Given the description of an element on the screen output the (x, y) to click on. 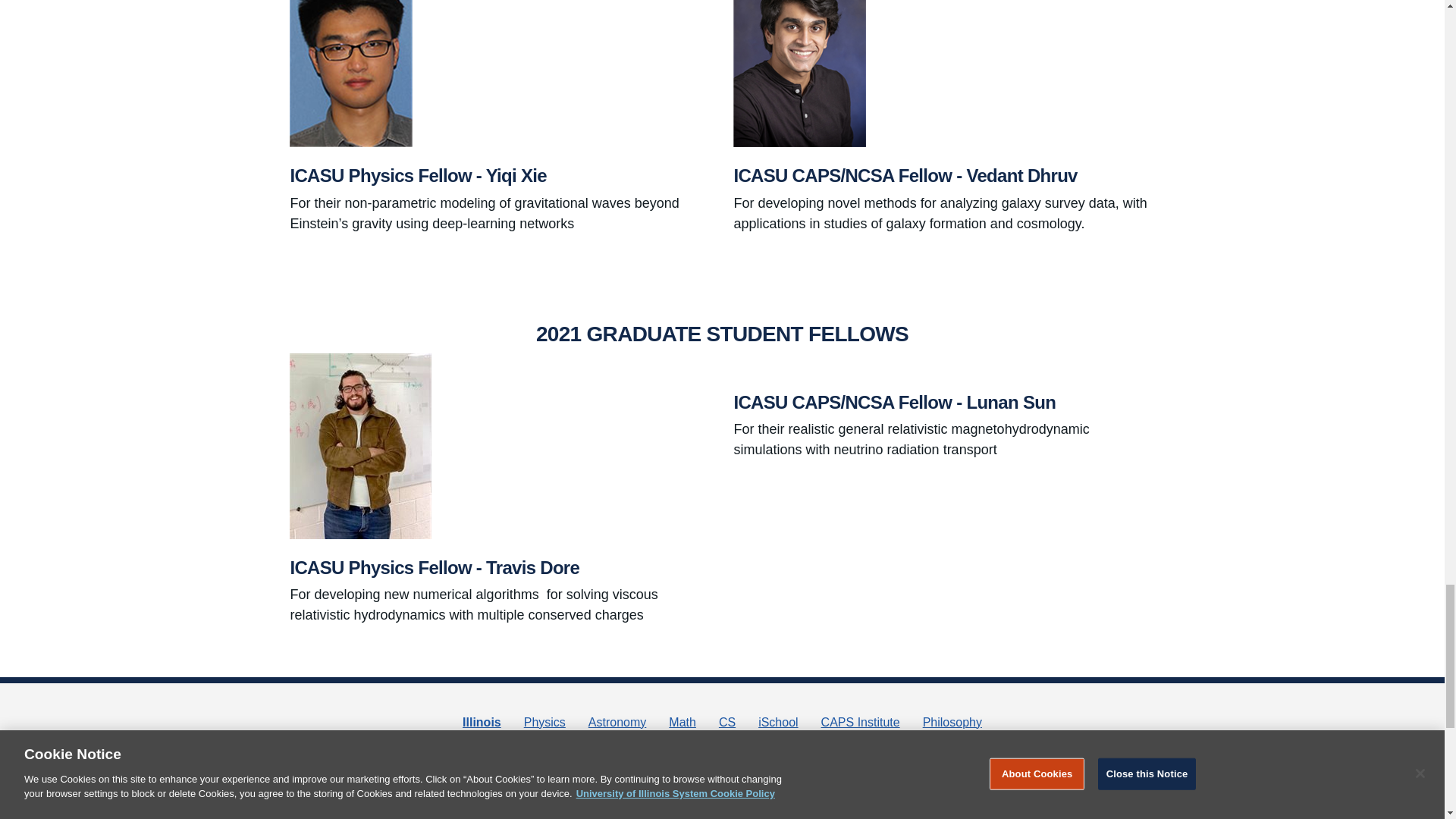
Department of Computer Science (727, 721)
Department of Physics (545, 721)
CAPS Institute (860, 721)
Department of Philosophy (952, 721)
Department of Math (681, 721)
Physics (545, 721)
Department of Astronomy (617, 721)
Astronomy (617, 721)
Illinois (481, 721)
School of Information Sciences (777, 721)
